Given the description of an element on the screen output the (x, y) to click on. 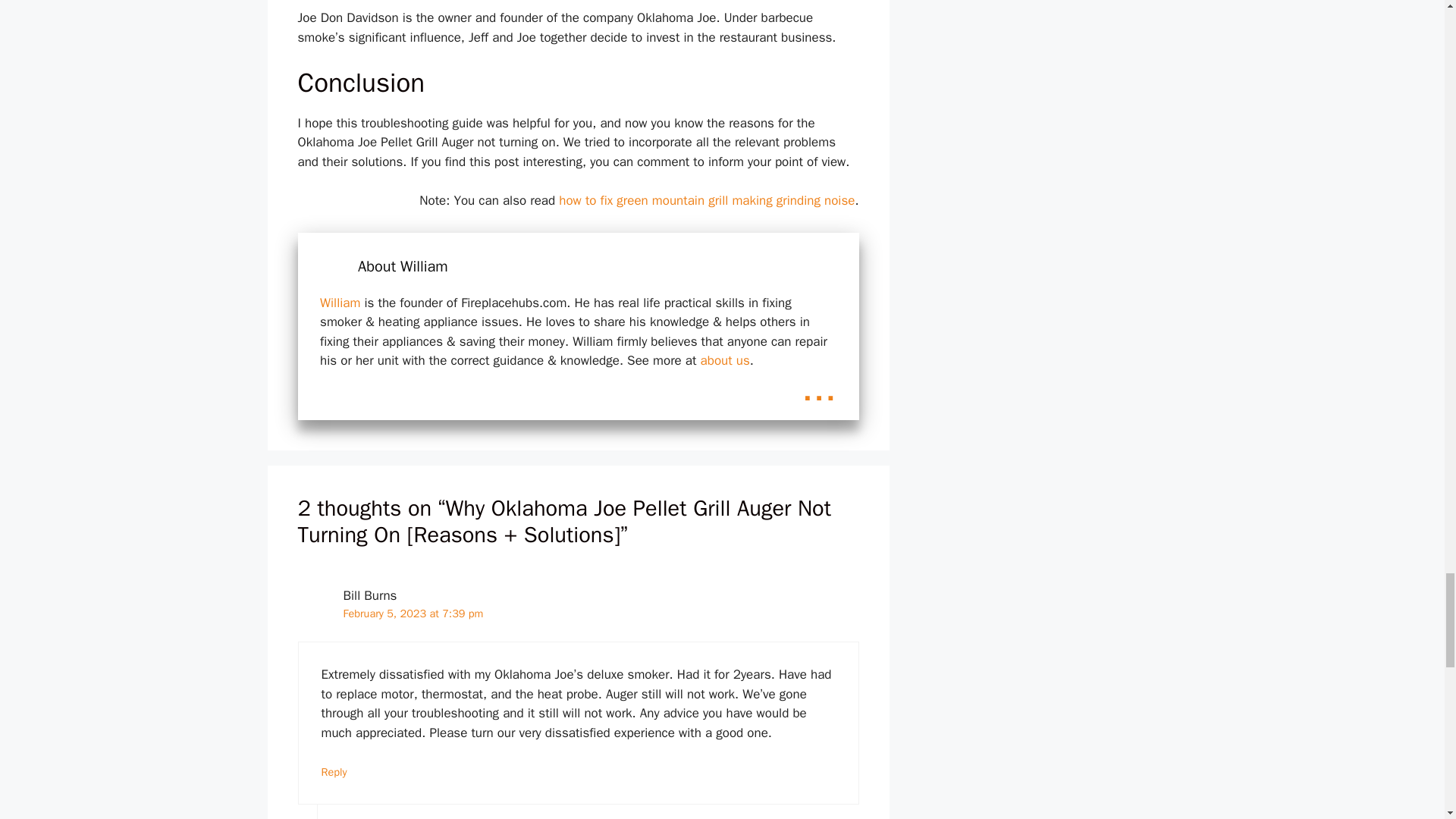
Read more (818, 388)
